Given the description of an element on the screen output the (x, y) to click on. 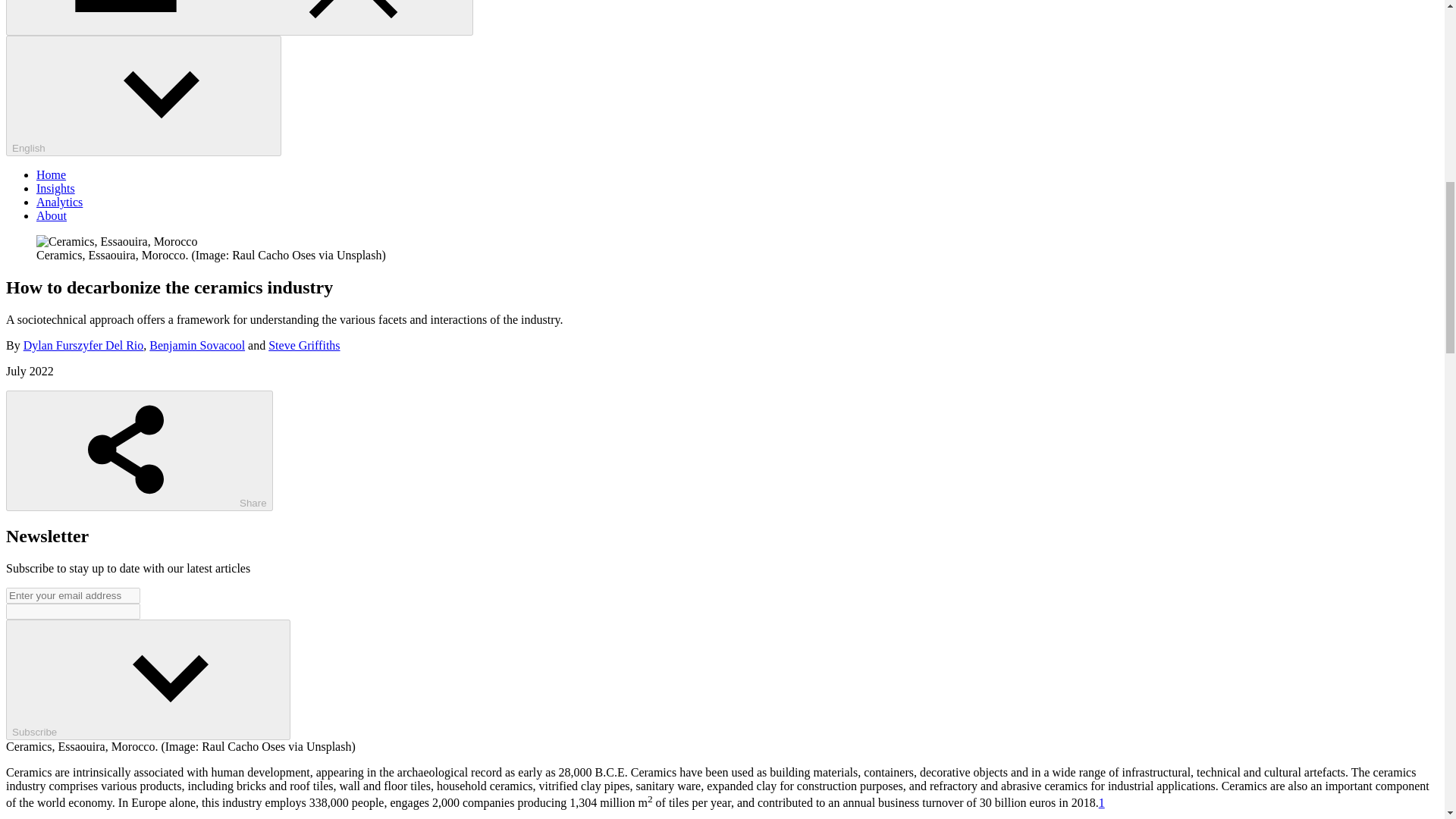
2018. (1085, 802)
Home (50, 174)
Subscribe (147, 679)
Analytics (59, 201)
Benjamin Sovacool (196, 345)
English (143, 96)
Share (139, 450)
About (51, 215)
Dylan Furszyfer Del Rio (83, 345)
Insights (55, 187)
